Given the description of an element on the screen output the (x, y) to click on. 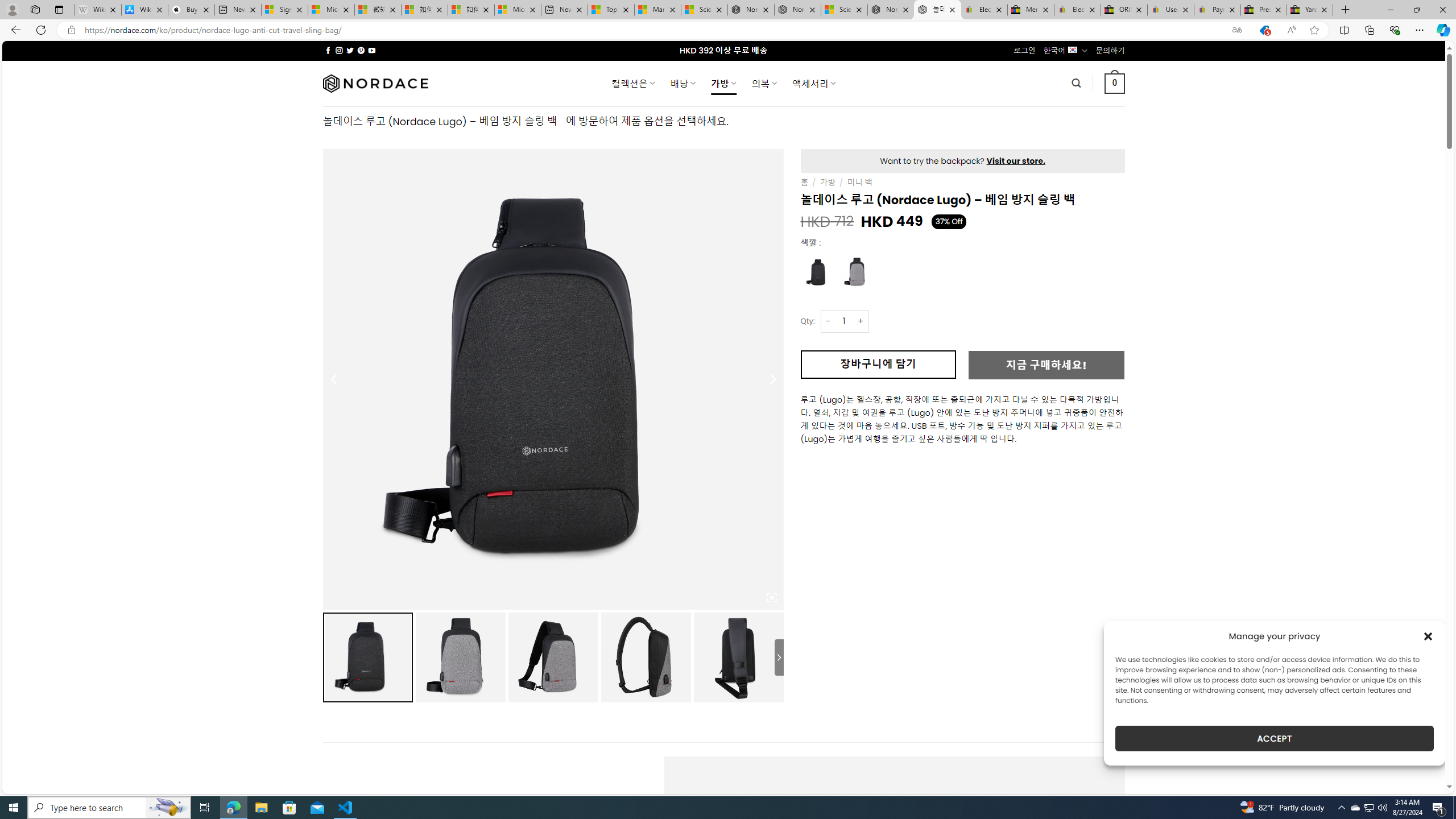
 0  (1115, 83)
User Privacy Notice | eBay (1170, 9)
Follow on Instagram (338, 50)
